Given the description of an element on the screen output the (x, y) to click on. 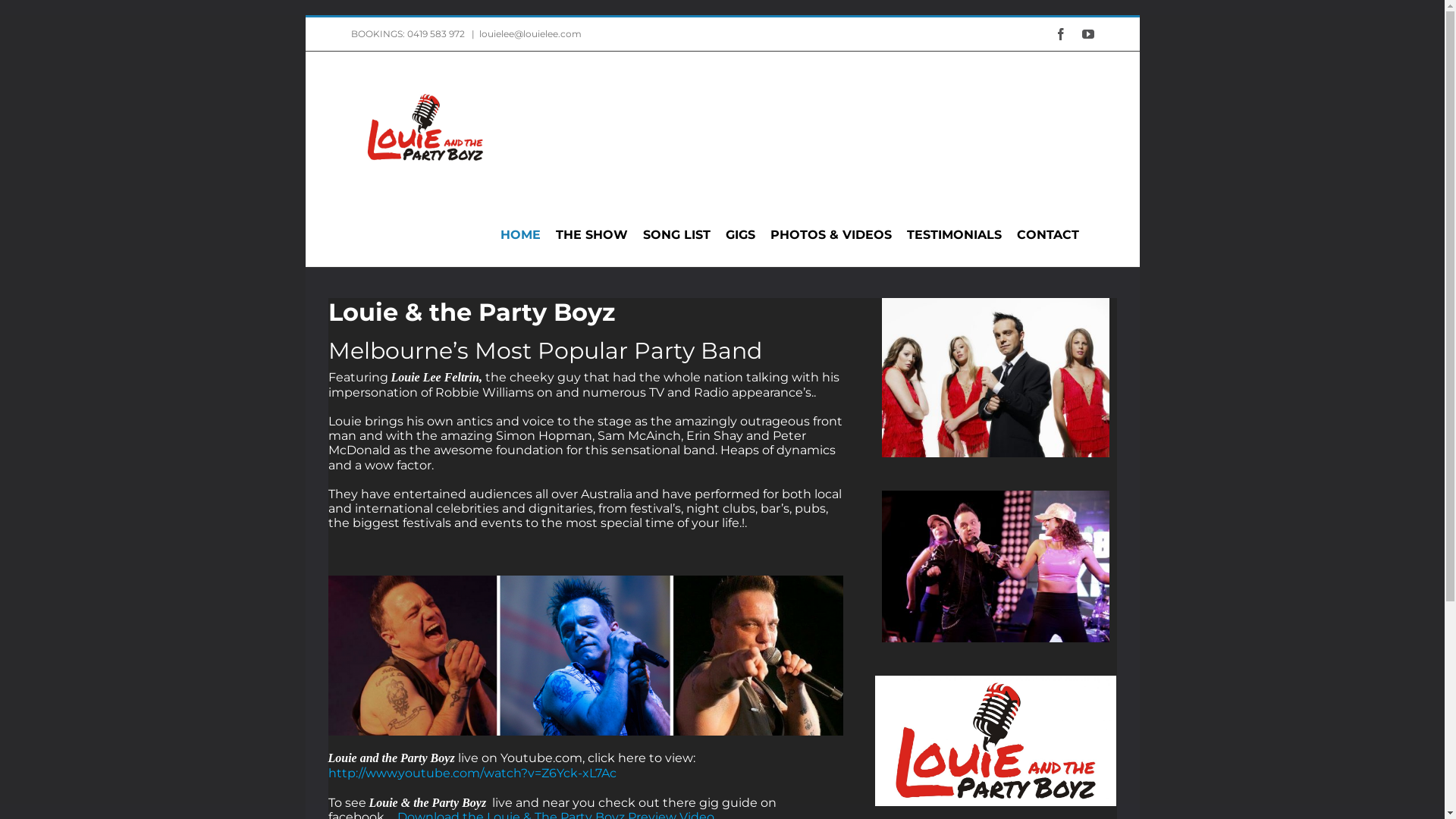
http://www.youtube.com/watch?v=Z6Yck-xL7Ac Element type: text (471, 772)
THE SHOW Element type: text (591, 234)
Facebook Element type: text (1060, 34)
PHOTOS & VIDEOS Element type: text (830, 234)
CONTACT Element type: text (1047, 234)
Louie and the Party Boyz -logo Element type: hover (996, 740)
GIGS Element type: text (739, 234)
SONG LIST Element type: text (676, 234)
TESTIMONIALS Element type: text (953, 234)
YouTube Element type: text (1087, 34)
louielee@louielee.com Element type: text (530, 33)
HOME Element type: text (520, 234)
LouieGB2109 Element type: hover (995, 566)
Louie Lee Feltrin Element type: hover (584, 655)
LouieRedDresses Element type: hover (995, 377)
